Given the description of an element on the screen output the (x, y) to click on. 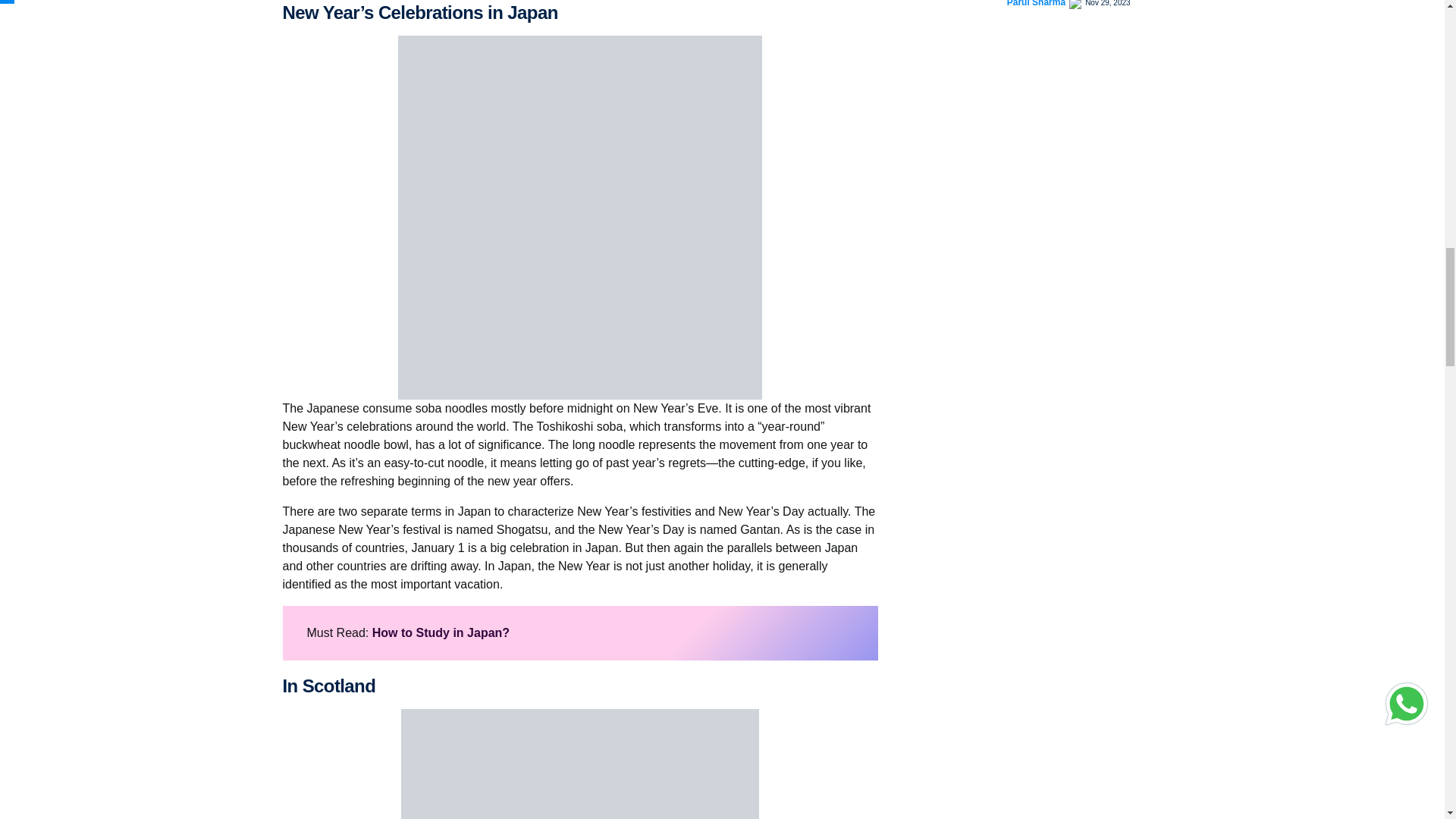
View all posts by Parul Sharma (1036, 4)
